Given the description of an element on the screen output the (x, y) to click on. 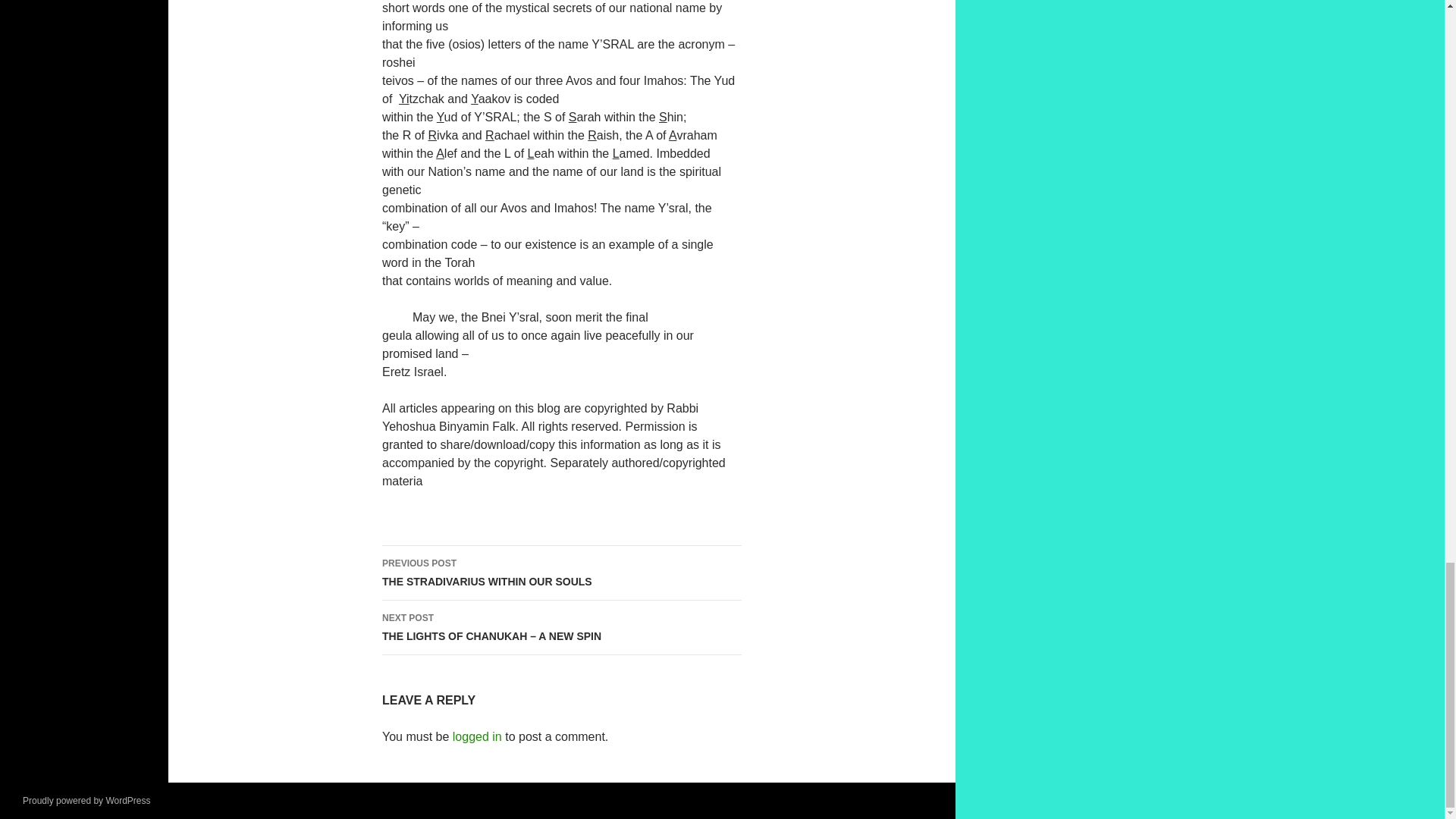
Proudly powered by WordPress (87, 800)
logged in (561, 573)
